Given the description of an element on the screen output the (x, y) to click on. 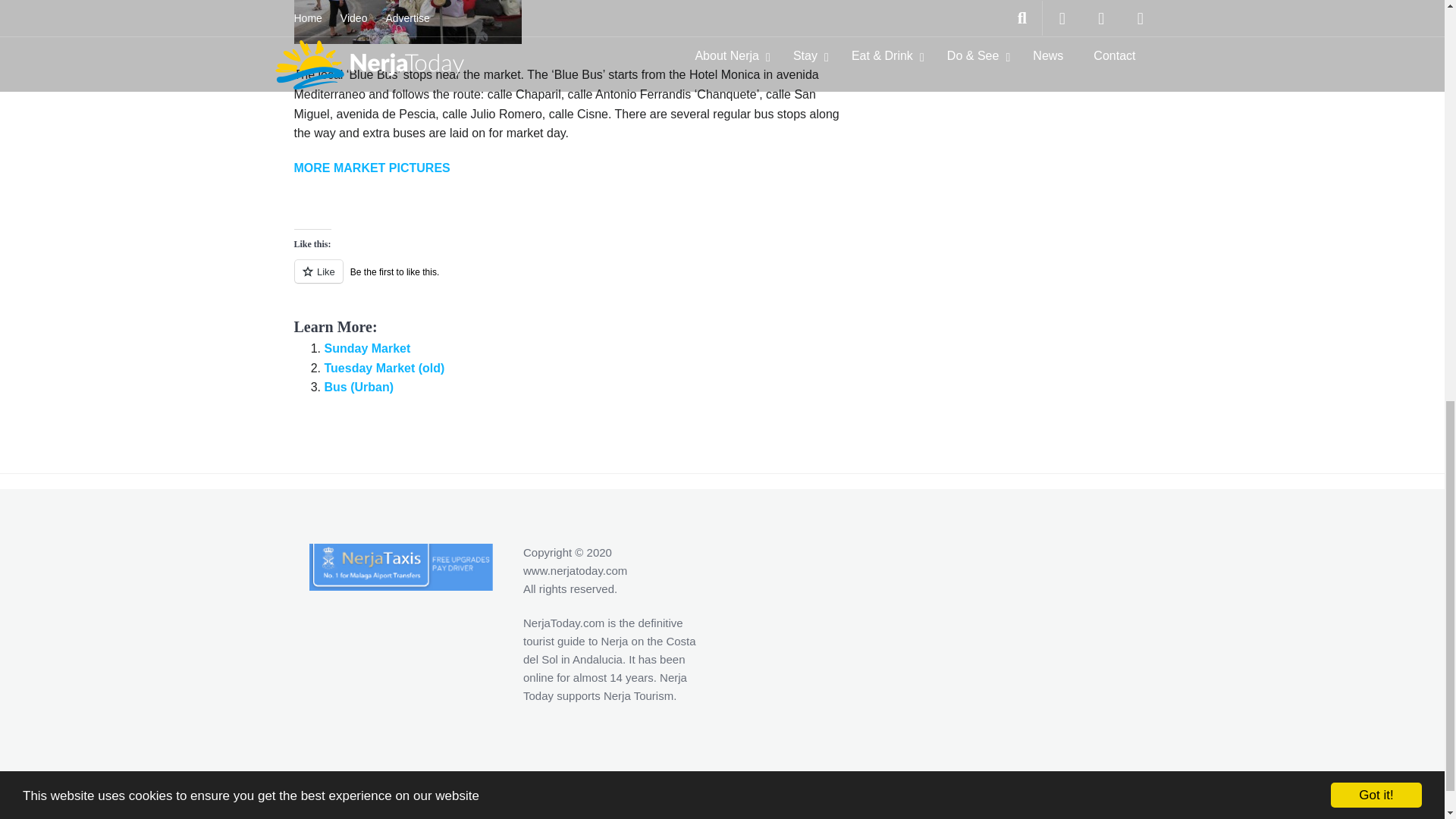
market3 (407, 22)
Sunday Market (367, 348)
Nerja Tuesday Market (371, 167)
